Given the description of an element on the screen output the (x, y) to click on. 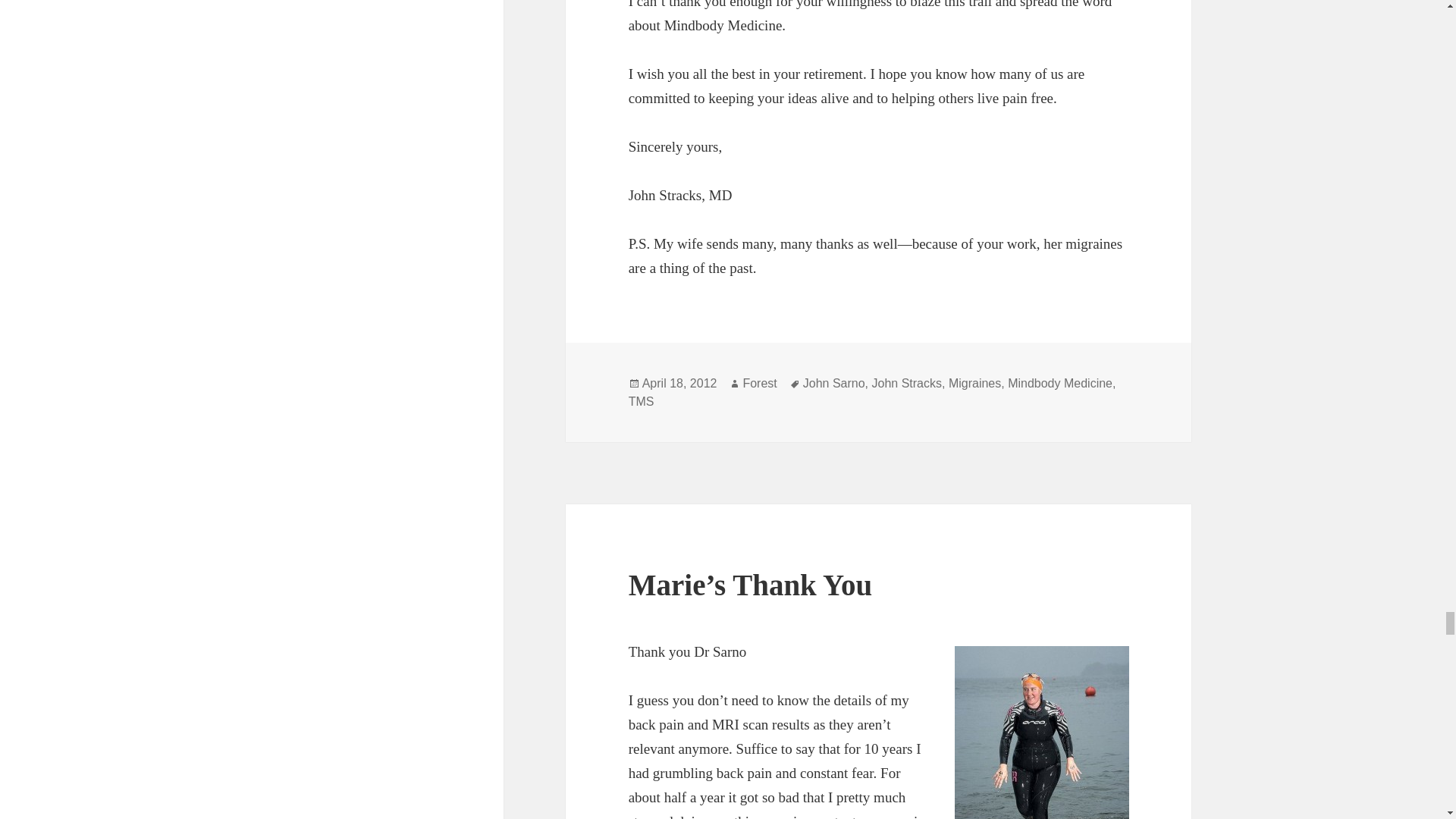
Marie Swimming (1042, 732)
